Given the description of an element on the screen output the (x, y) to click on. 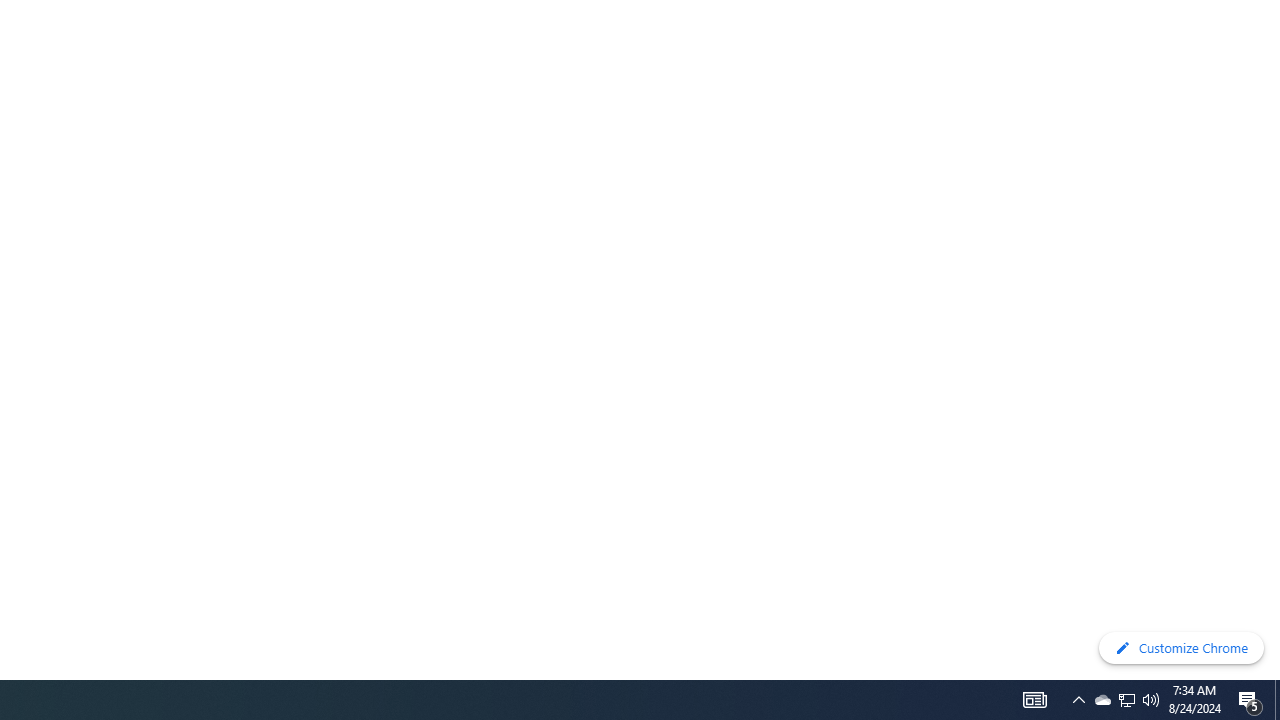
Customize Chrome (1181, 647)
